Given the description of an element on the screen output the (x, y) to click on. 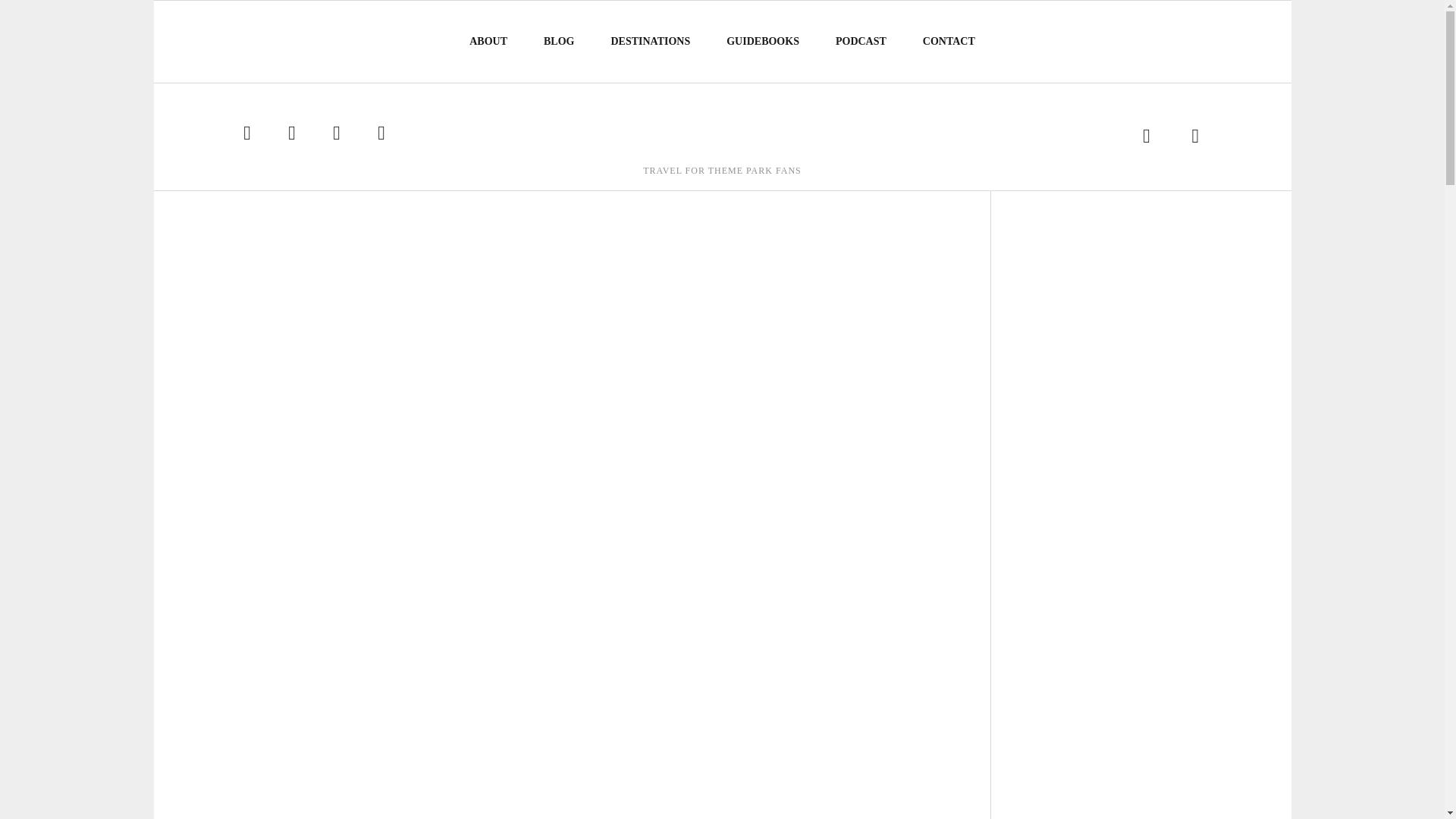
Where do you want to travel? (650, 41)
BLOG (558, 41)
DESTINATIONS (650, 41)
PODCAST (861, 41)
GUIDEBOOKS (762, 41)
CONTACT (949, 41)
Our digital guidebooks (762, 41)
ABOUT (488, 41)
TDR Explorer (721, 126)
